Given the description of an element on the screen output the (x, y) to click on. 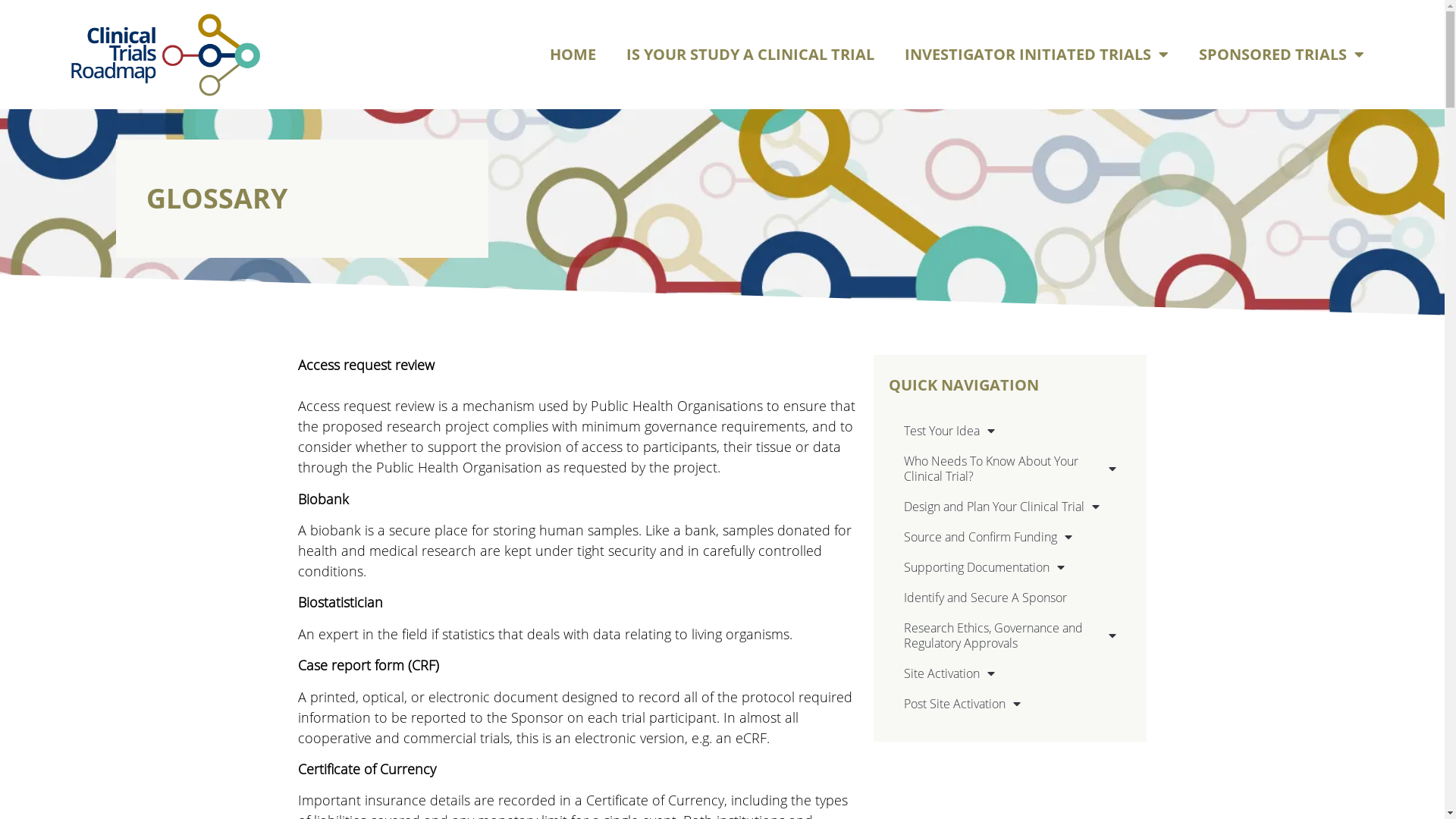
Design and Plan Your Clinical Trial Element type: text (1009, 506)
IS YOUR STUDY A CLINICAL TRIAL Element type: text (750, 54)
Site Activation Element type: text (1009, 673)
Research Ethics, Governance and Regulatory Approvals Element type: text (1009, 635)
SPONSORED TRIALS Element type: text (1281, 54)
Post Site Activation Element type: text (1009, 703)
INVESTIGATOR INITIATED TRIALS Element type: text (1036, 54)
Test Your Idea Element type: text (1009, 430)
HOME Element type: text (572, 54)
Source and Confirm Funding Element type: text (1009, 536)
Who Needs To Know About Your Clinical Trial? Element type: text (1009, 468)
Identify and Secure A Sponsor Element type: text (1009, 597)
Supporting Documentation Element type: text (1009, 567)
